Given the description of an element on the screen output the (x, y) to click on. 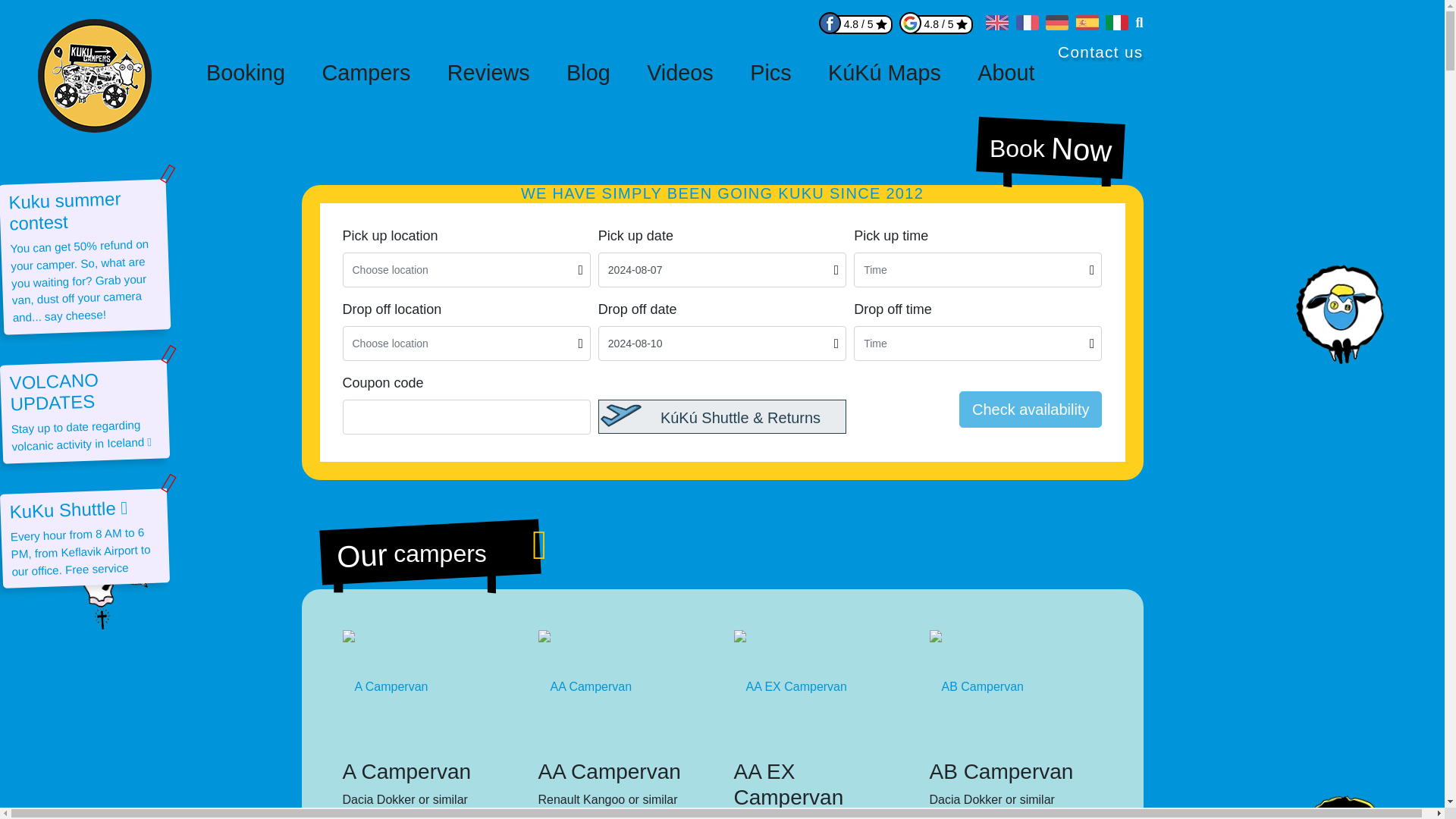
Booking (245, 72)
Blog (588, 72)
Kuku Campers English Version for Campers in Iceland (997, 25)
Reviews (487, 72)
Pics (769, 72)
Videos (679, 72)
About (1004, 72)
Our campers (428, 546)
Kuku Campers French Version for Campers in Iceland (1027, 25)
Campers (365, 72)
2024-08-07 (721, 269)
2024-08-10 (721, 343)
